Given the description of an element on the screen output the (x, y) to click on. 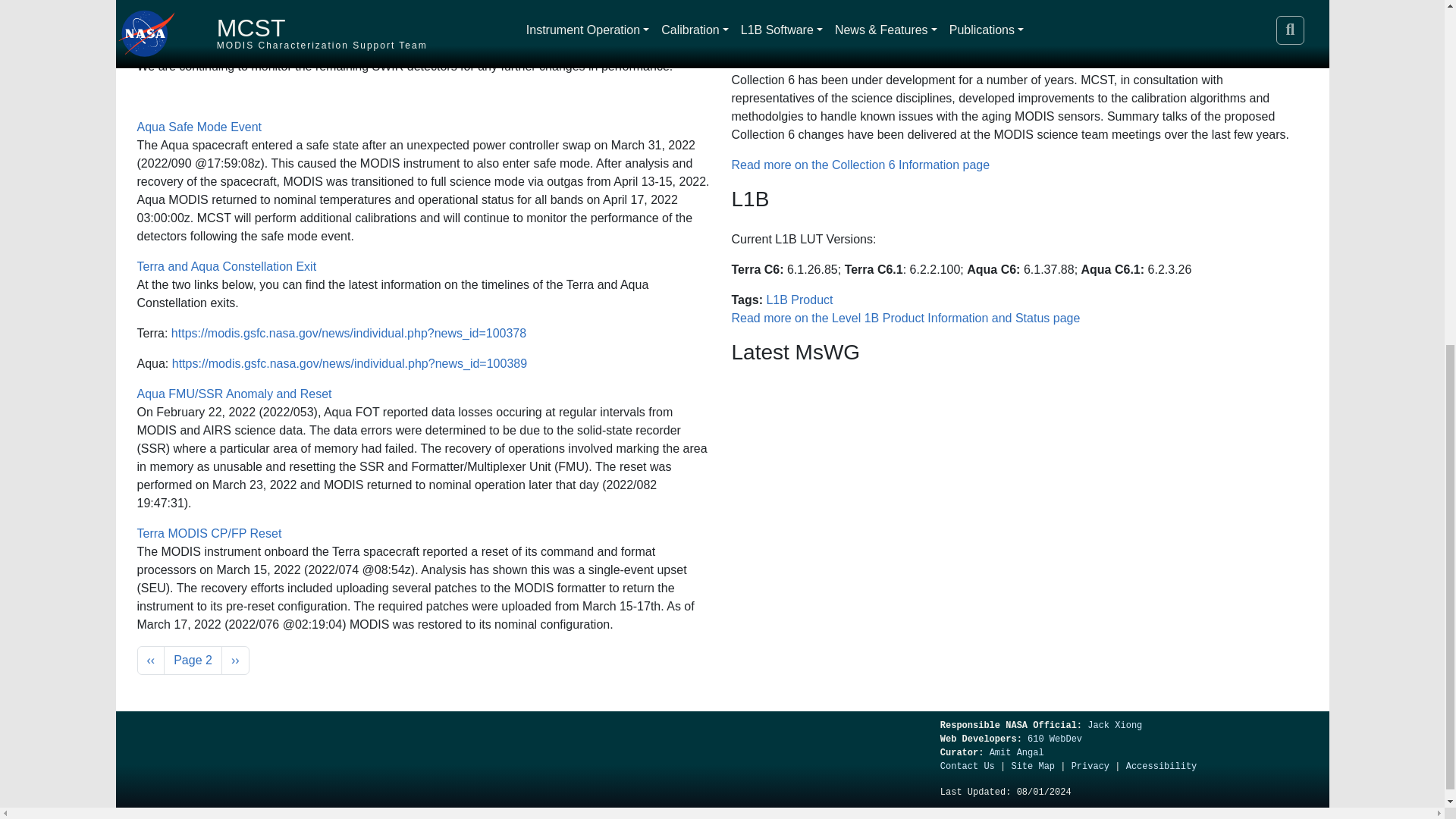
Go to next page (234, 660)
Go to previous page (150, 660)
